Given the description of an element on the screen output the (x, y) to click on. 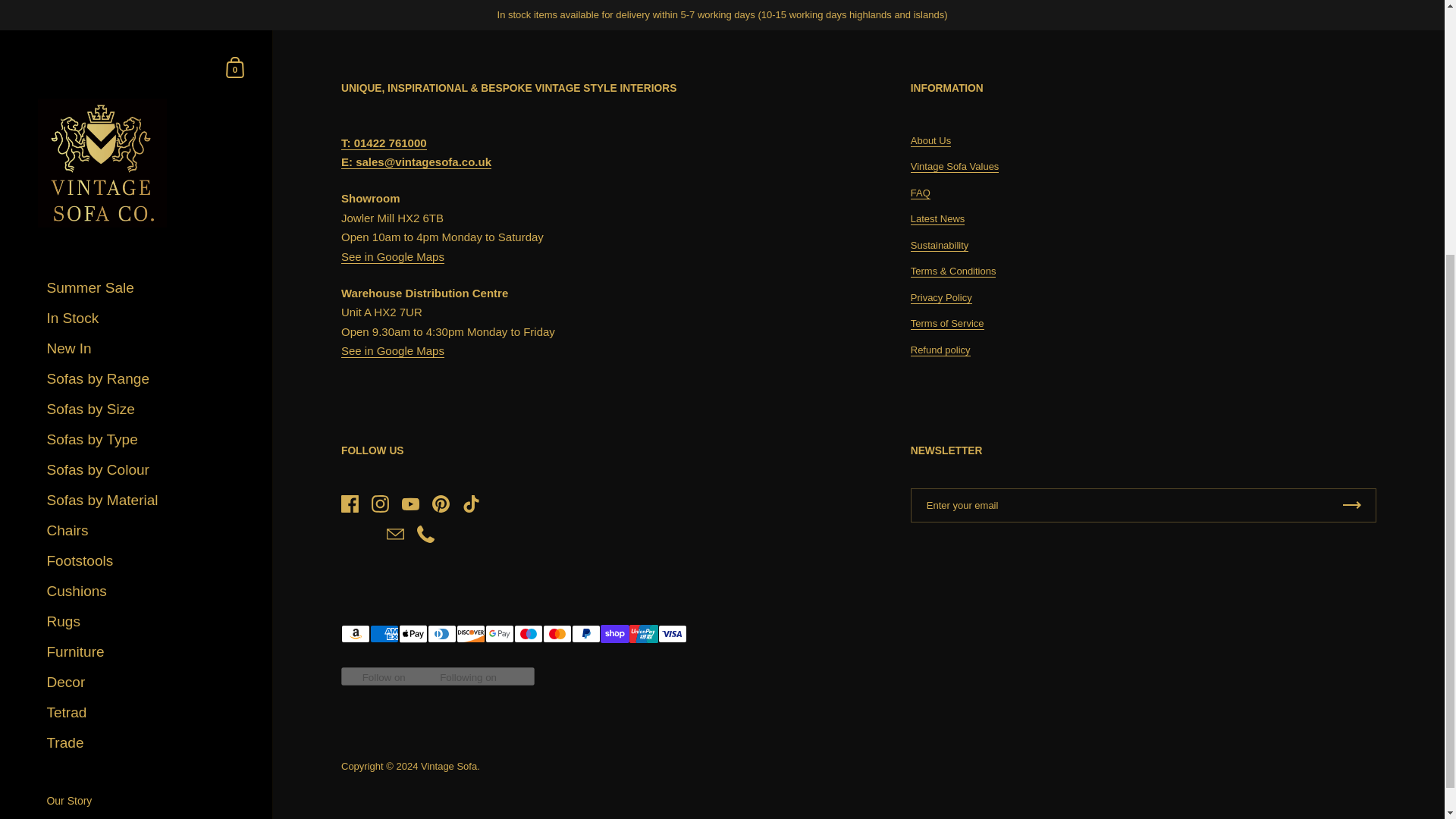
Rugs (141, 246)
Visit our Showroom (141, 450)
Chairs (141, 155)
YouTube (140, 578)
TikTok (201, 578)
Sofas by Size (141, 34)
Sofas by Colour (141, 95)
Sofas by Range (141, 9)
Instagram (110, 578)
Furniture (141, 277)
